Given the description of an element on the screen output the (x, y) to click on. 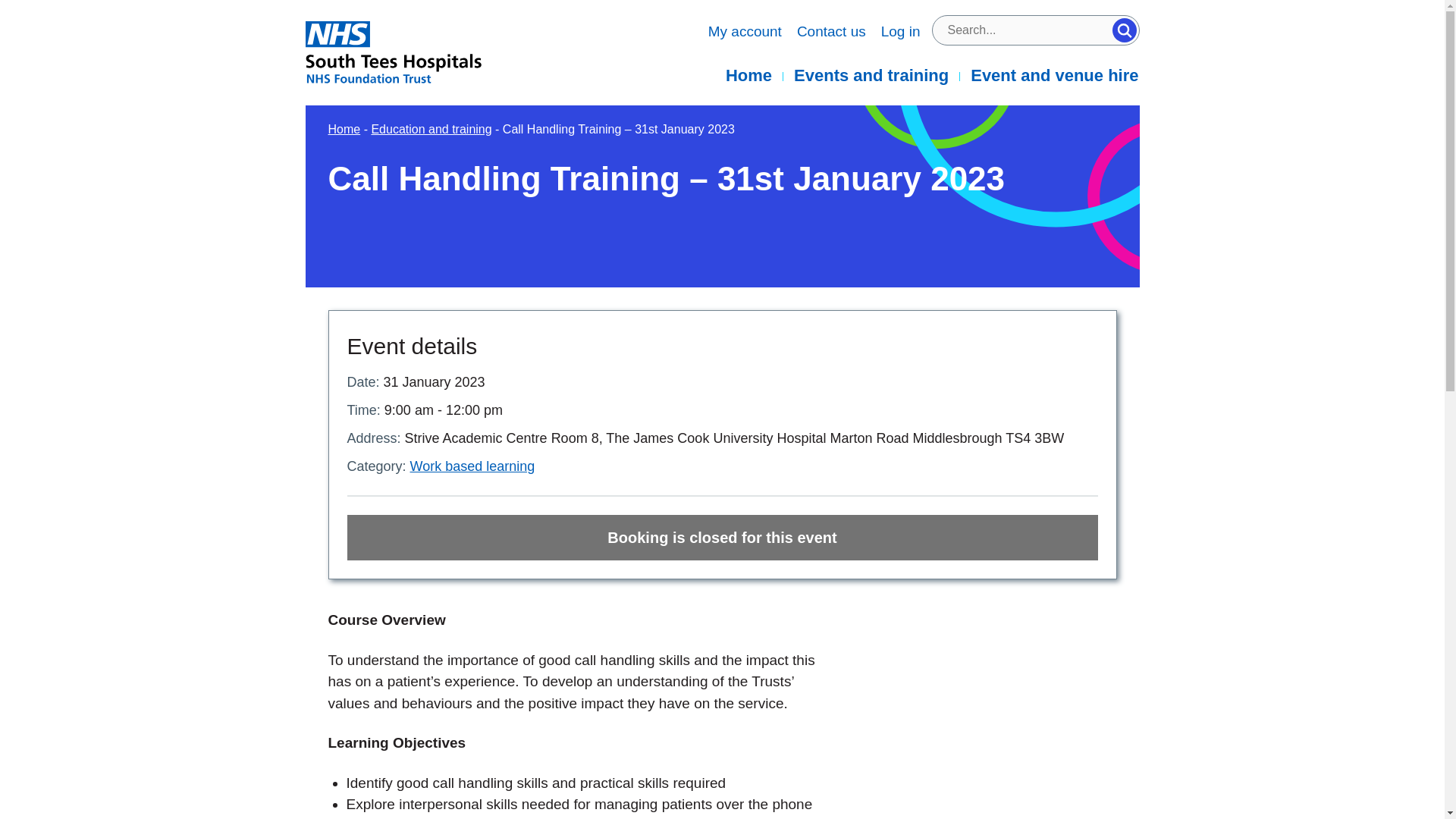
Home (748, 76)
Home (343, 129)
Visit the homepage (418, 52)
Go to Education and training. (431, 129)
My account (744, 32)
Search (1123, 30)
Work based learning (472, 466)
Search (1123, 30)
Contact us (831, 32)
Search (1123, 30)
Event and venue hire (1048, 76)
Log in (900, 32)
Education and training (431, 129)
Go to South Tees Conferences and Events. (343, 129)
Events and training (871, 76)
